Given the description of an element on the screen output the (x, y) to click on. 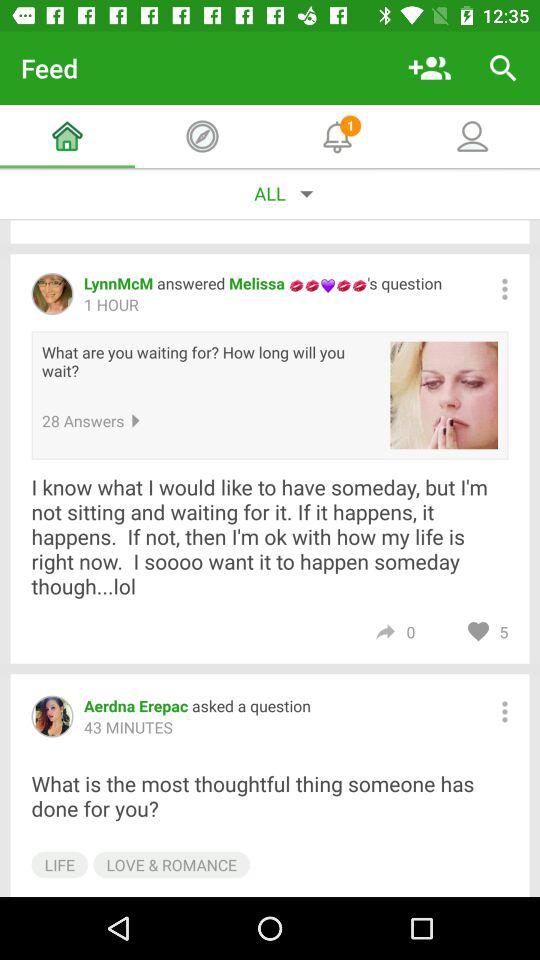
further options (504, 711)
